Given the description of an element on the screen output the (x, y) to click on. 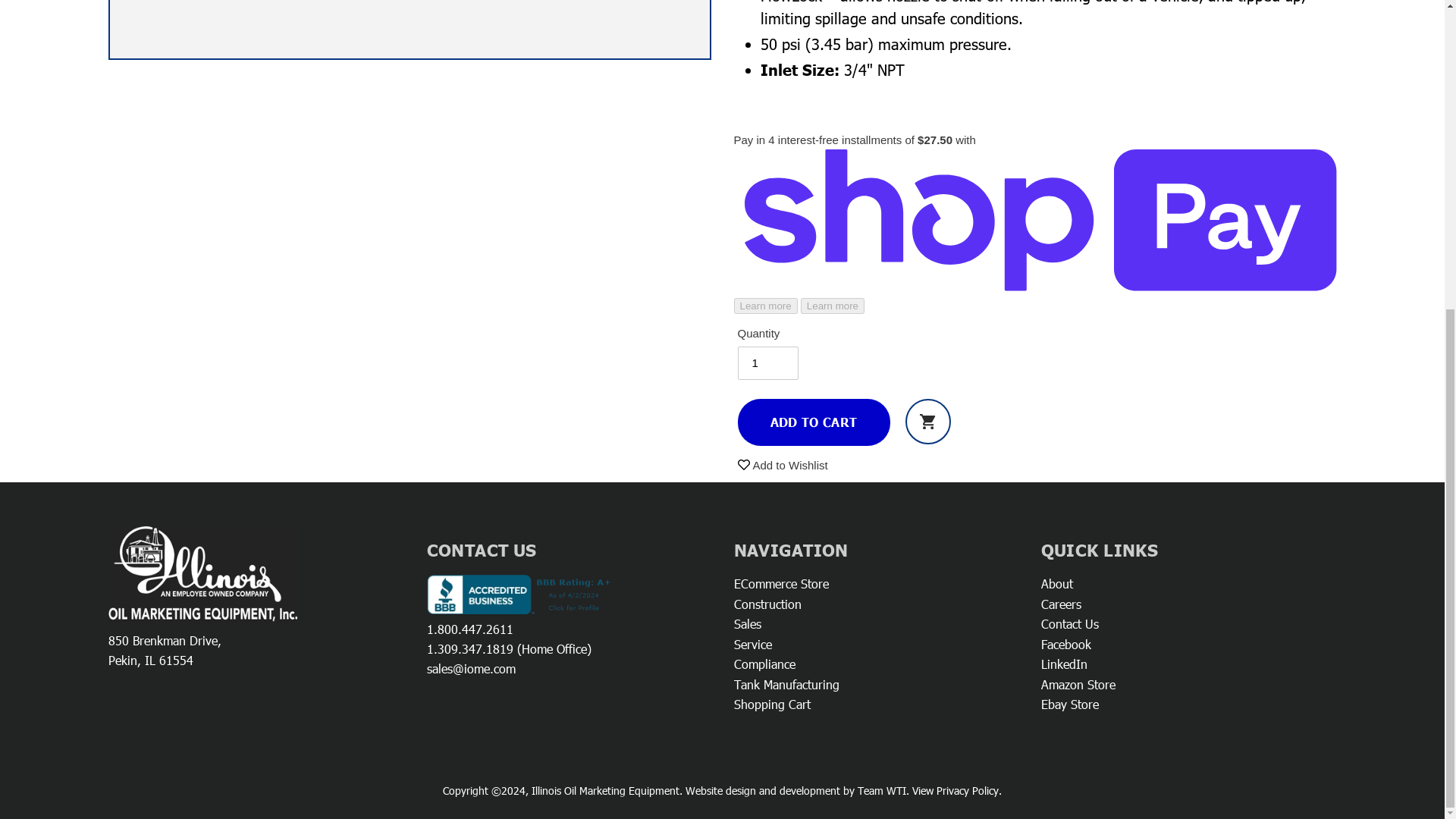
tel:1.800.447.2611 (469, 629)
tel:1.309.347.1819 (469, 649)
1 (766, 363)
